Given the description of an element on the screen output the (x, y) to click on. 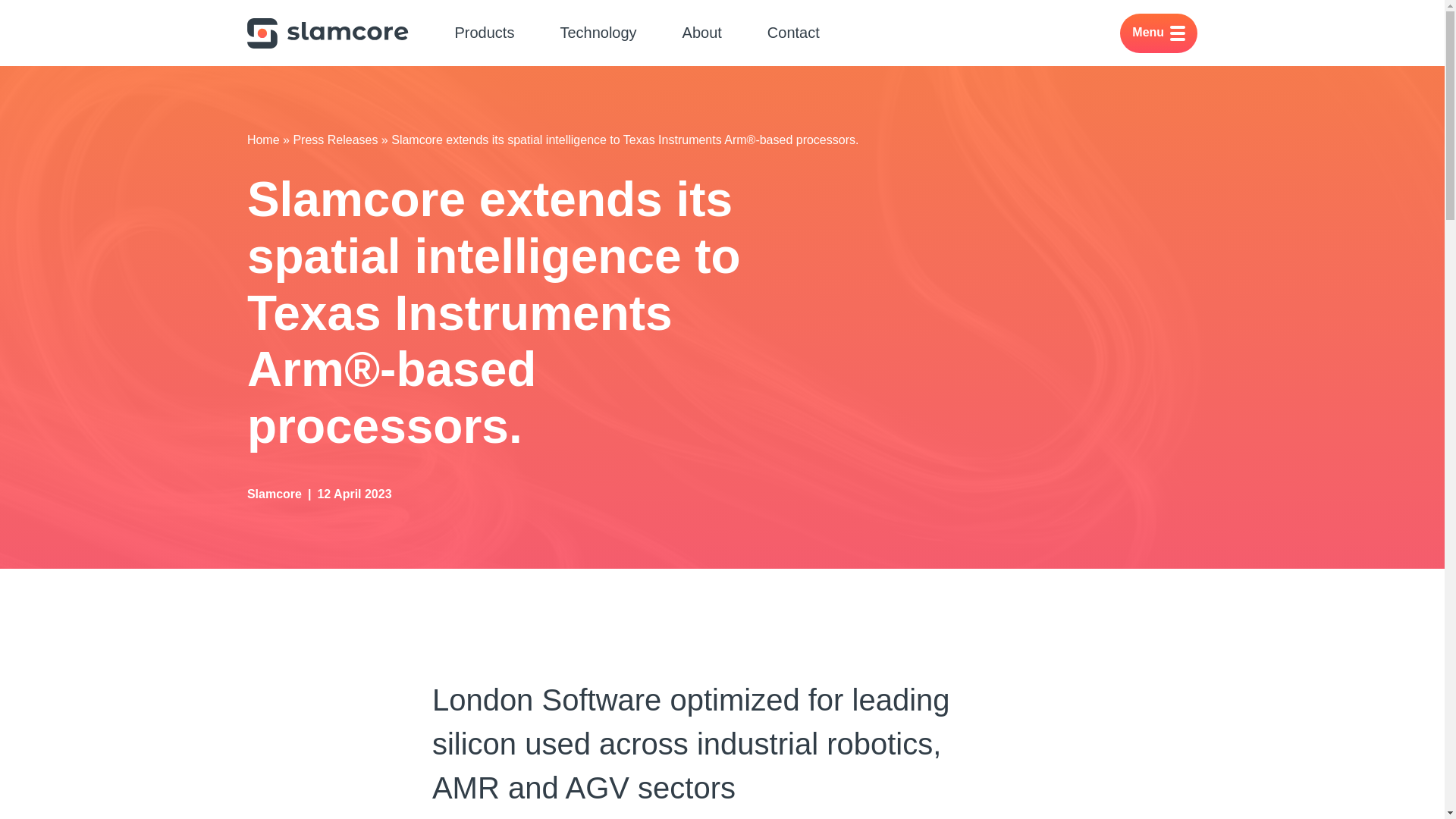
Contact (793, 32)
Technology (597, 32)
Home (263, 139)
About (702, 32)
Menu (1157, 33)
Products (483, 32)
Press Releases (334, 139)
